Given the description of an element on the screen output the (x, y) to click on. 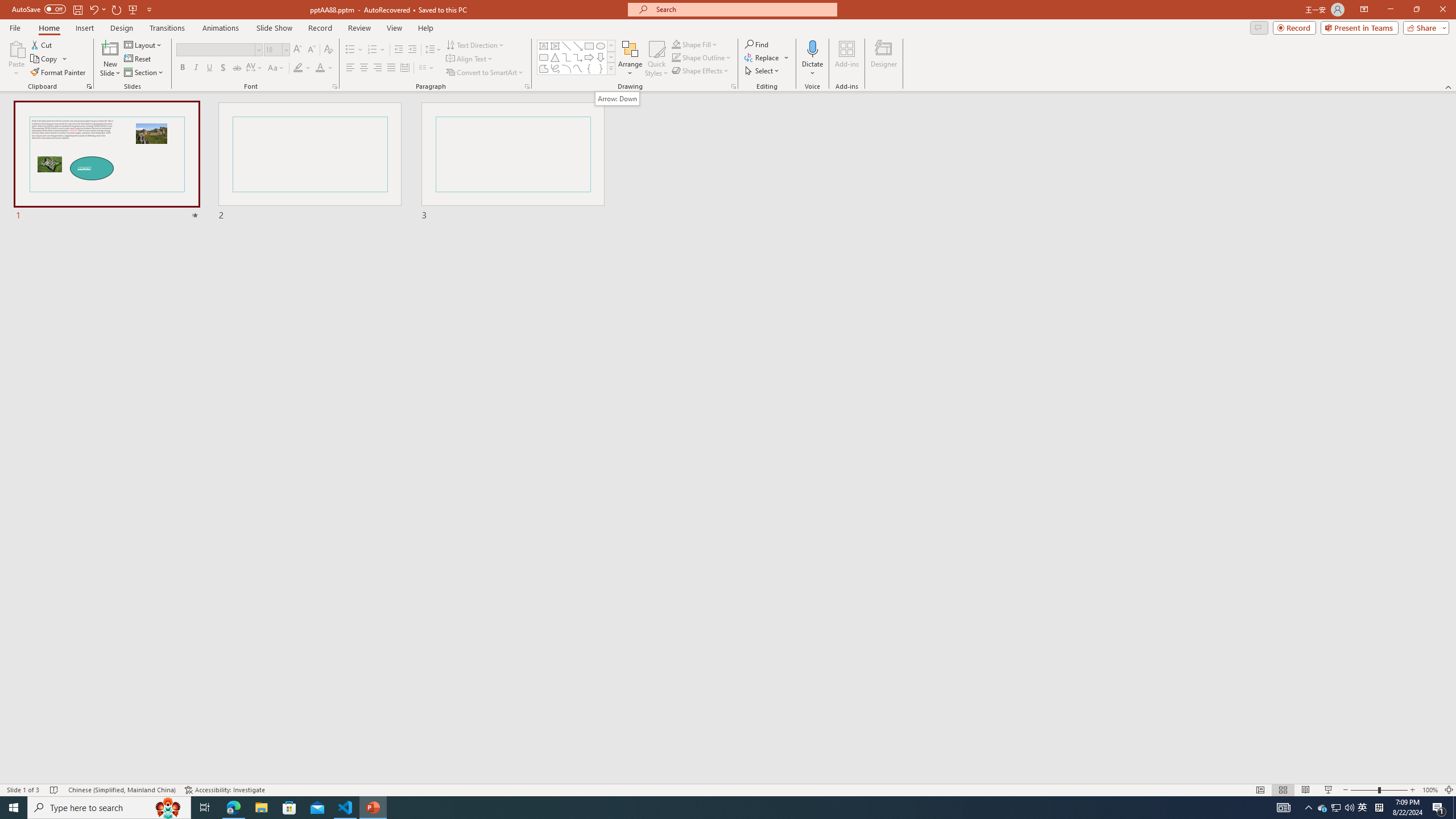
Rectangle: Rounded Corners (543, 57)
Clear Formatting (327, 49)
Shape Outline (701, 56)
Shape Fill Aqua, Accent 2 (675, 44)
Align Left (349, 67)
